Given the description of an element on the screen output the (x, y) to click on. 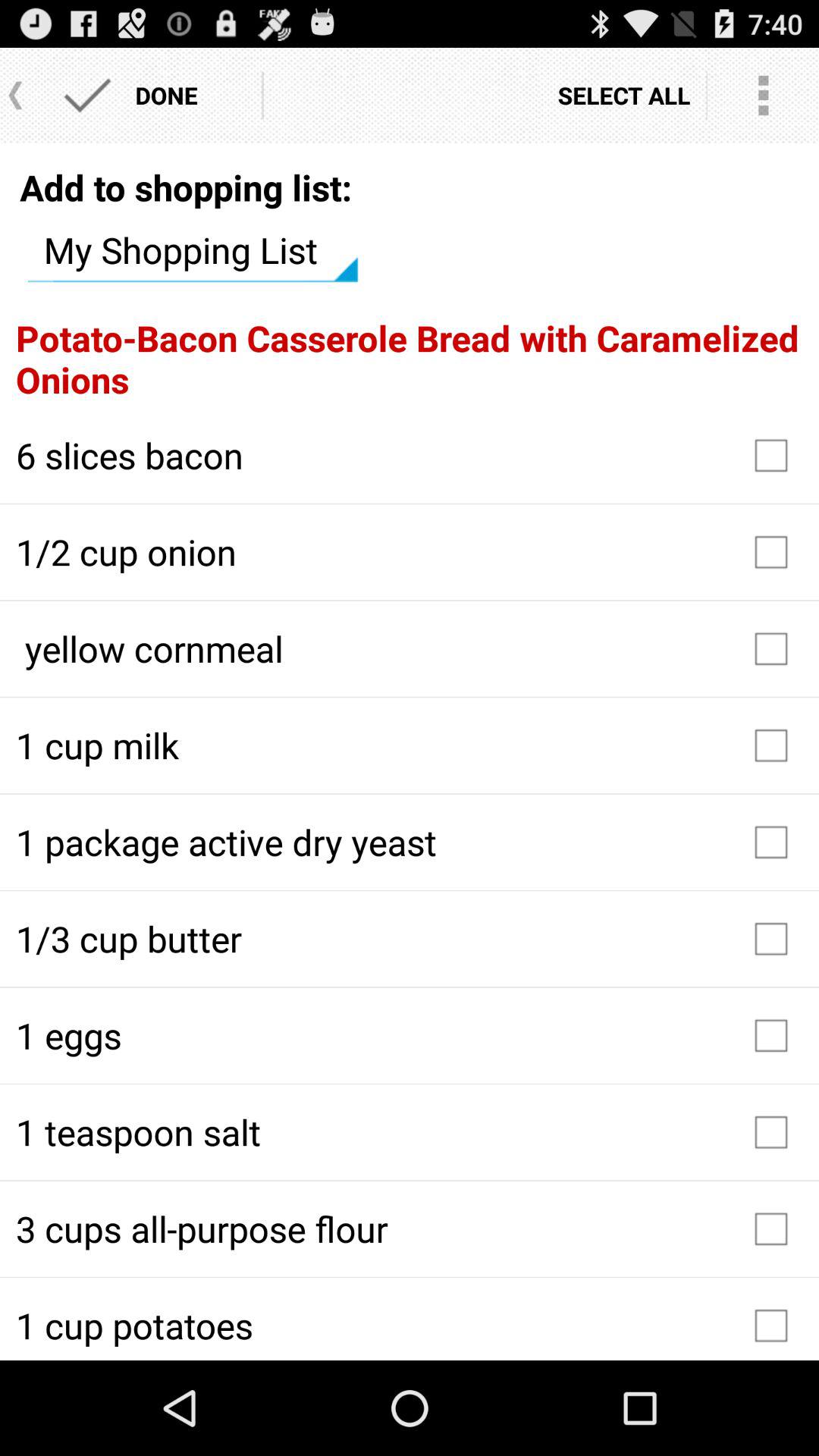
scroll until 1 eggs item (409, 1035)
